Given the description of an element on the screen output the (x, y) to click on. 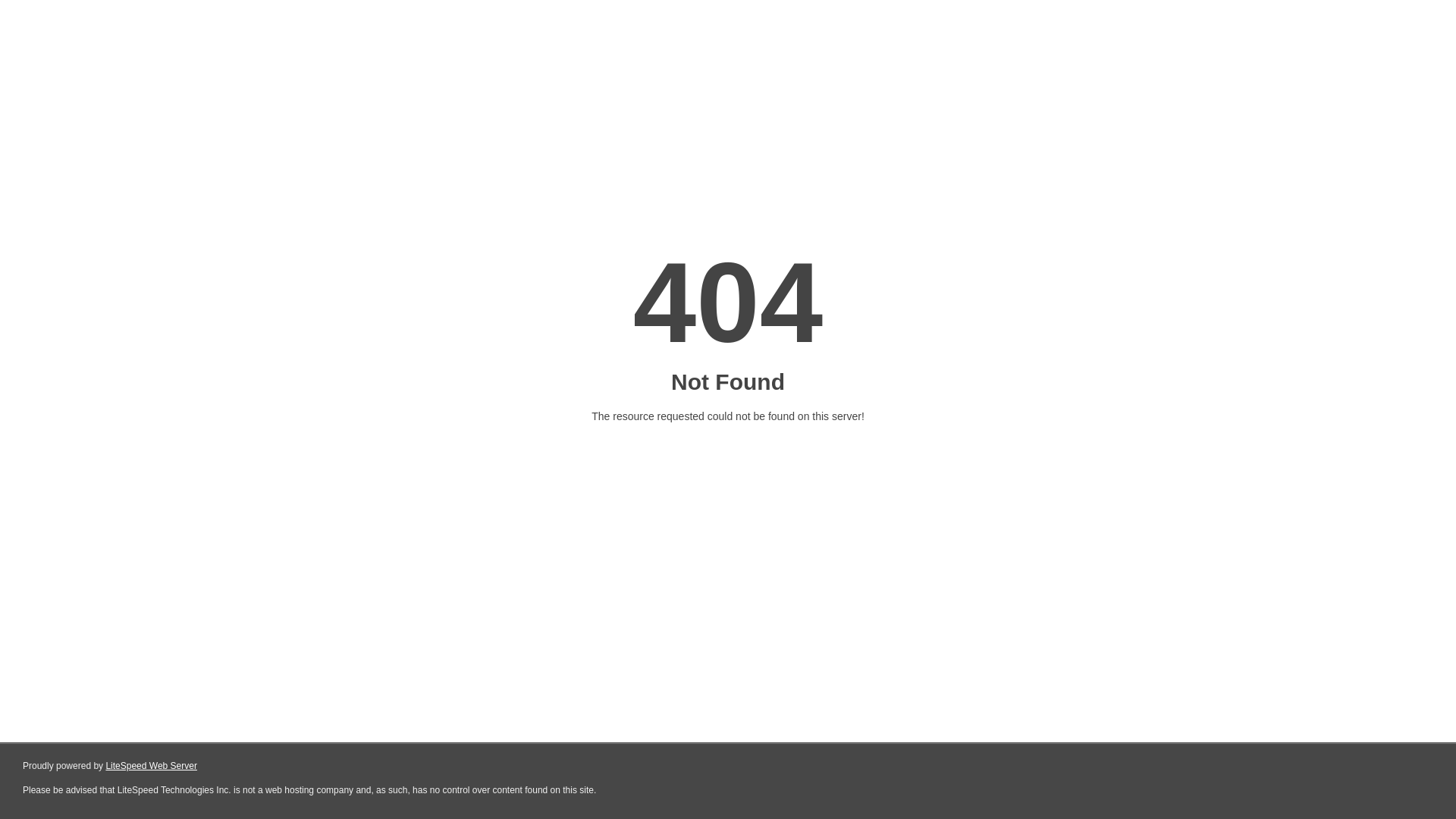
LiteSpeed Web Server Element type: text (151, 765)
